Given the description of an element on the screen output the (x, y) to click on. 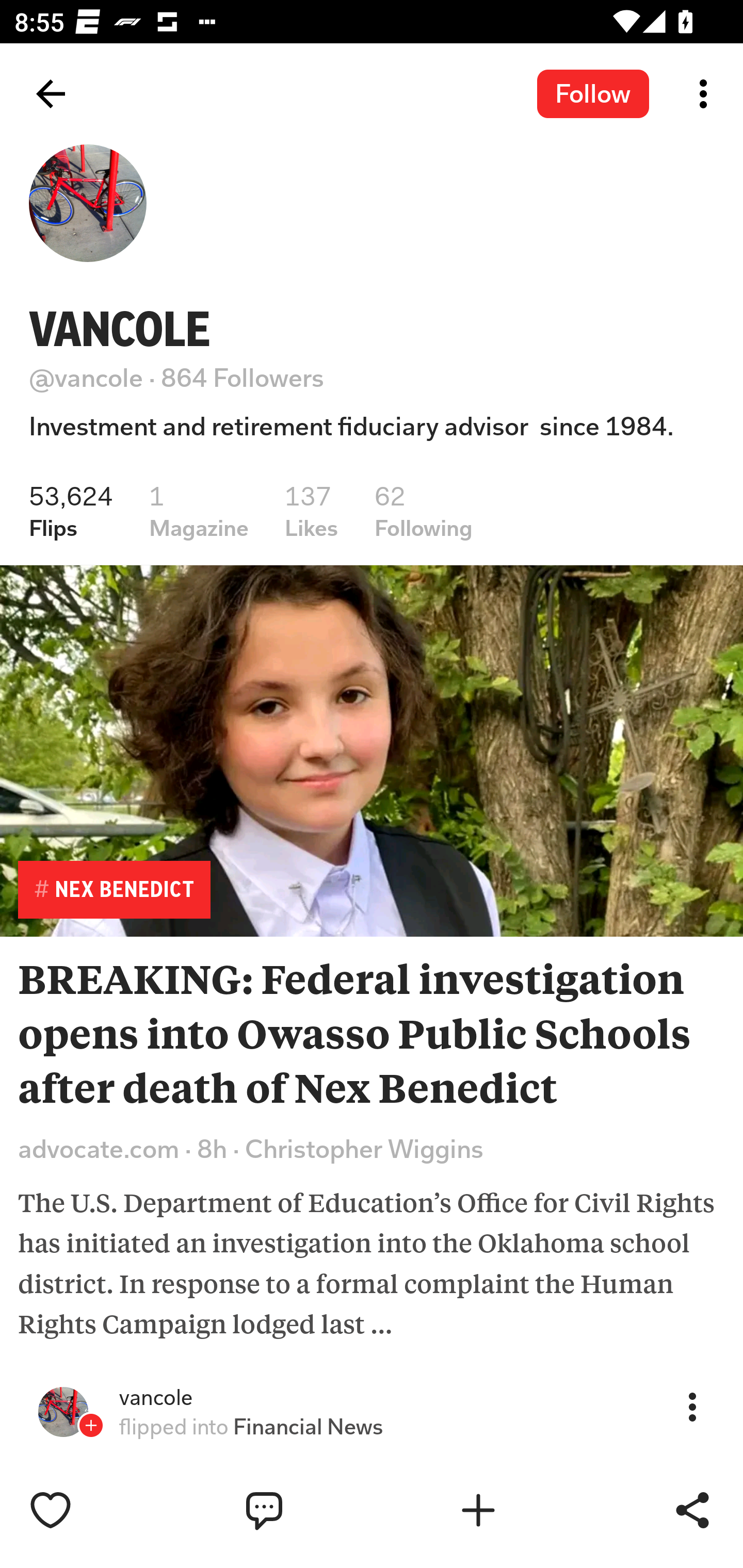
Back (50, 93)
More options (706, 93)
Follow (593, 92)
VANCOLE (119, 328)
@vancole (85, 377)
864 Followers (242, 377)
53,624 Flips (70, 510)
1 Magazine (198, 510)
137 Likes (311, 510)
62 Following (423, 510)
# NEX BENEDICT (113, 889)
More (692, 1406)
vancole (155, 1397)
flipped into Financial News (250, 1426)
Like (93, 1509)
Write a comment… (307, 1509)
Flip into Magazine (521, 1509)
Share (692, 1509)
